Given the description of an element on the screen output the (x, y) to click on. 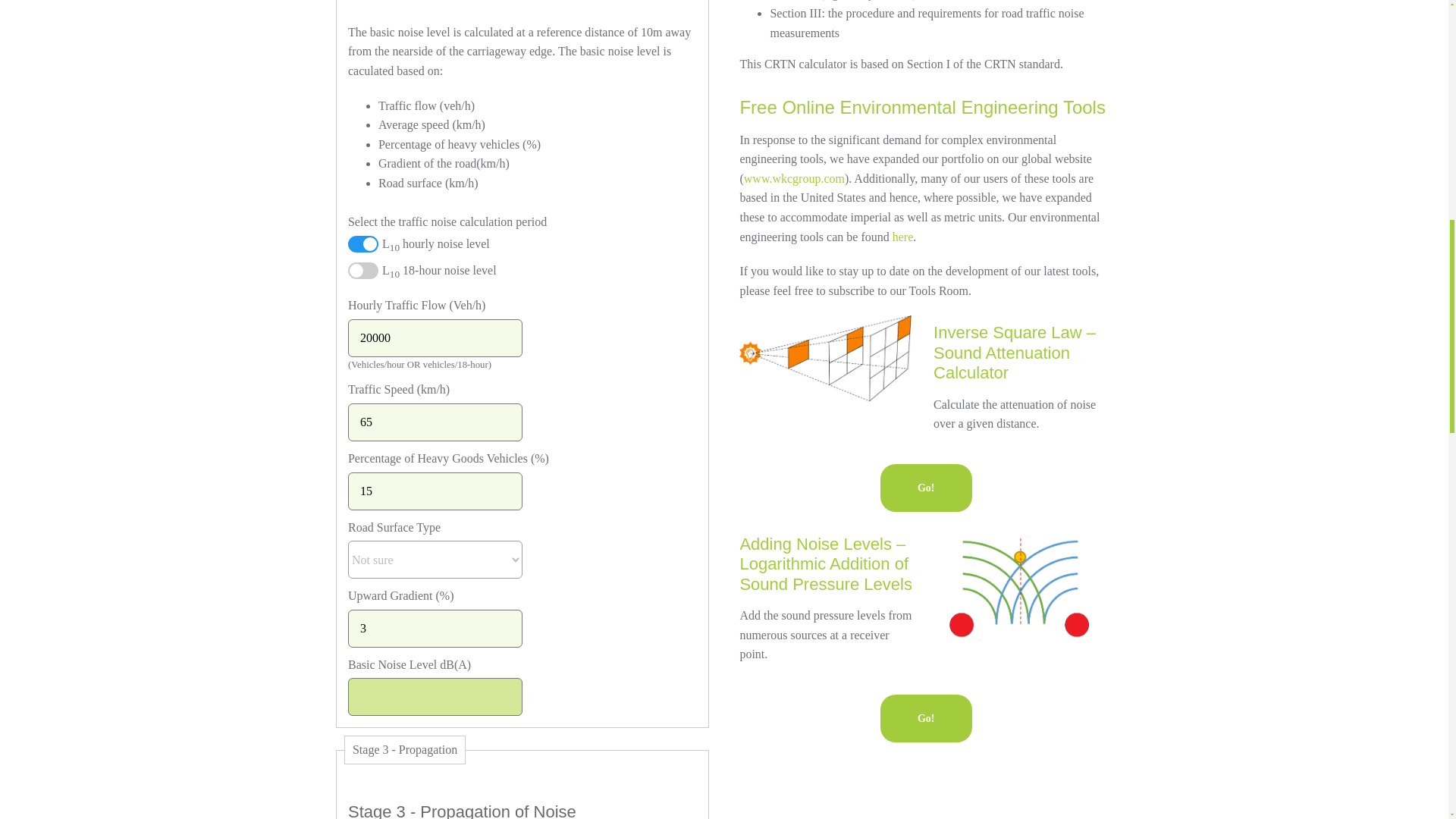
15 (434, 490)
3 (434, 628)
20000 (434, 338)
Go! (926, 718)
Go! (926, 487)
www.wkcgroup.com (794, 178)
here (903, 236)
65 (434, 422)
Noise Addition (1022, 591)
Inverse Square Law (828, 358)
